Given the description of an element on the screen output the (x, y) to click on. 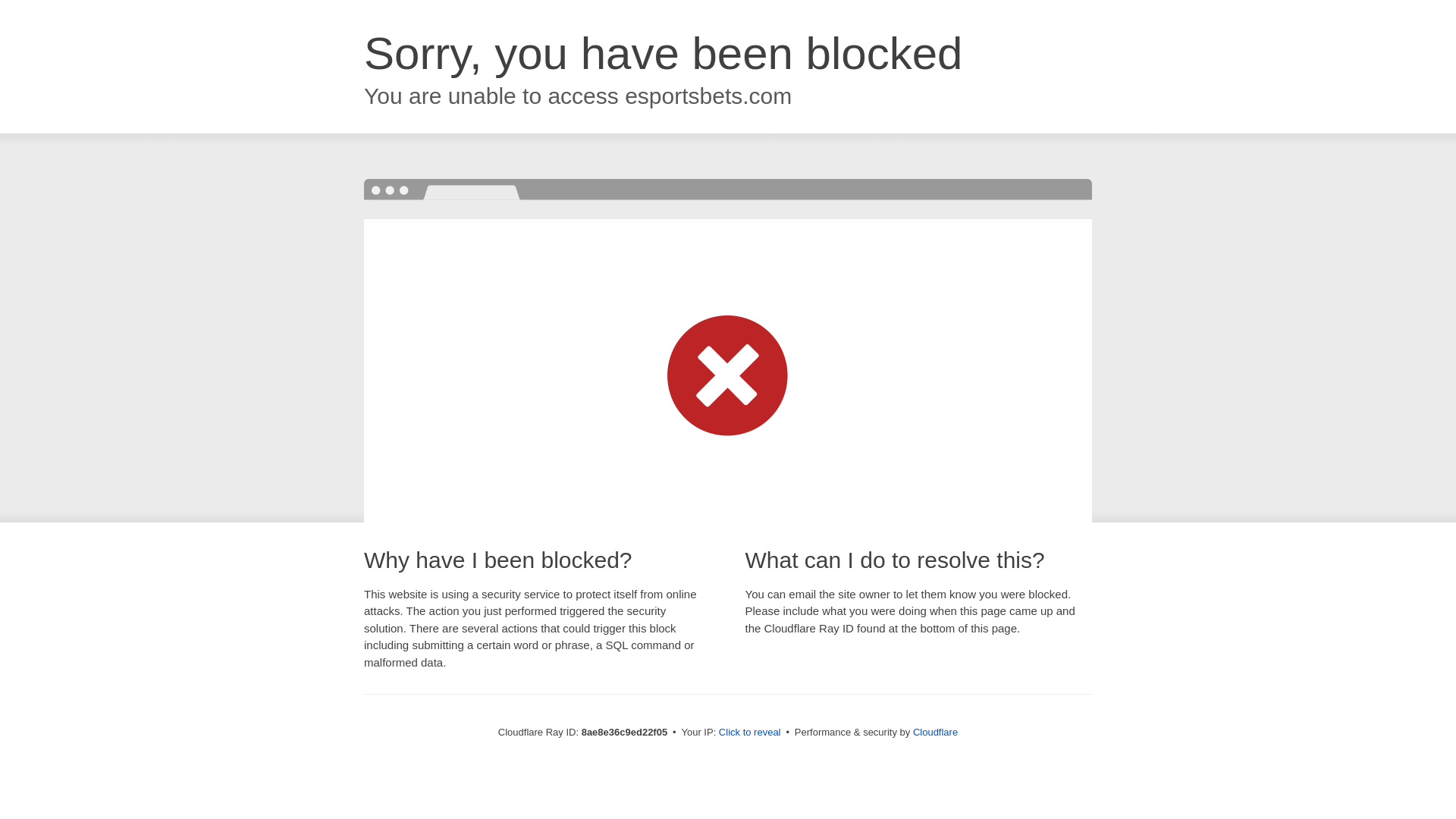
Cloudflare (935, 731)
Click to reveal (749, 732)
